Given the description of an element on the screen output the (x, y) to click on. 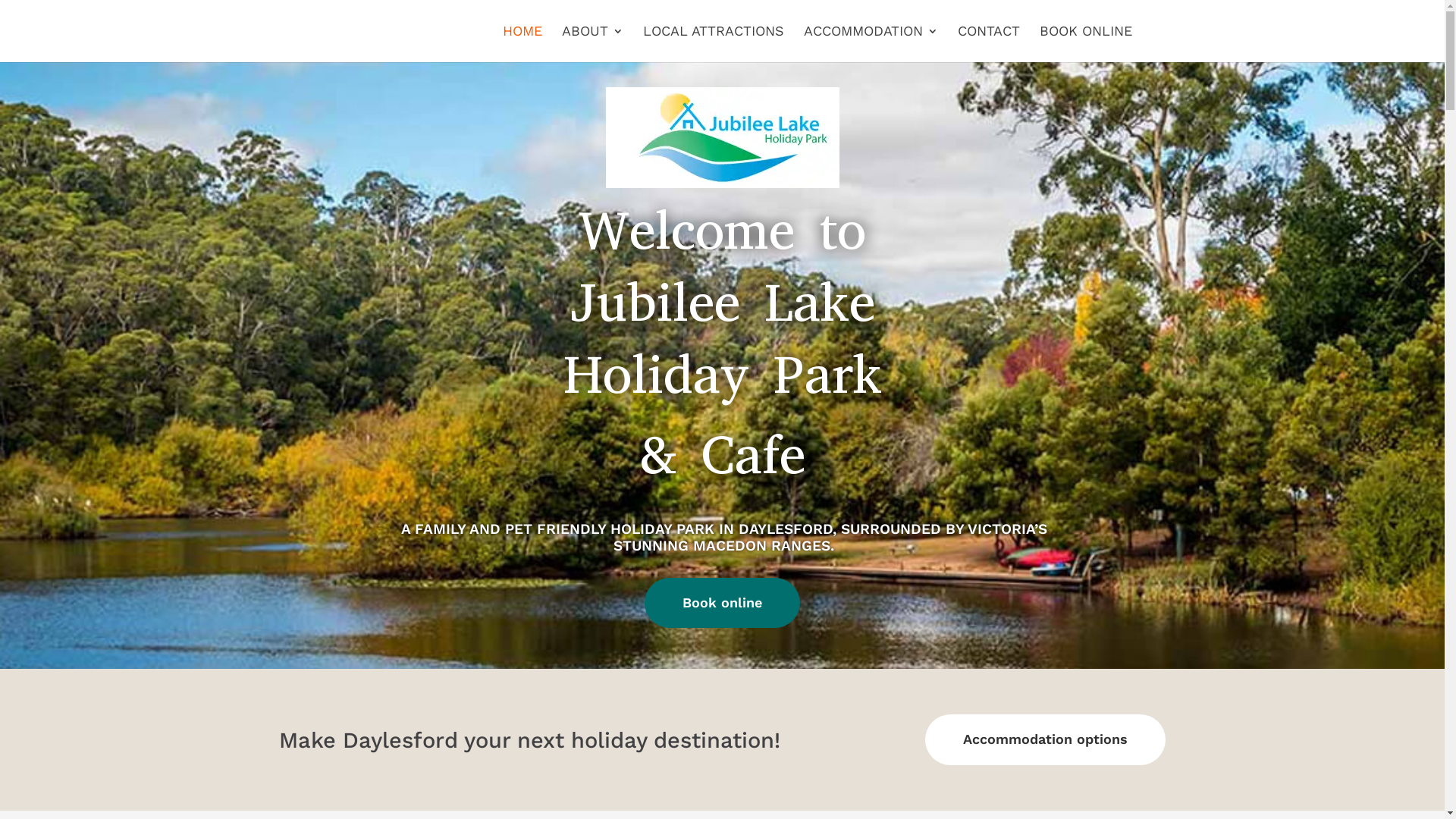
CONTACT Element type: text (988, 43)
Book online Element type: text (722, 602)
HOME Element type: text (521, 43)
LOCAL ATTRACTIONS Element type: text (713, 43)
ABOUT Element type: text (591, 43)
BOOK ONLINE Element type: text (1084, 43)
ACCOMMODATION Element type: text (870, 43)
Accommodation options Element type: text (1045, 739)
